Given the description of an element on the screen output the (x, y) to click on. 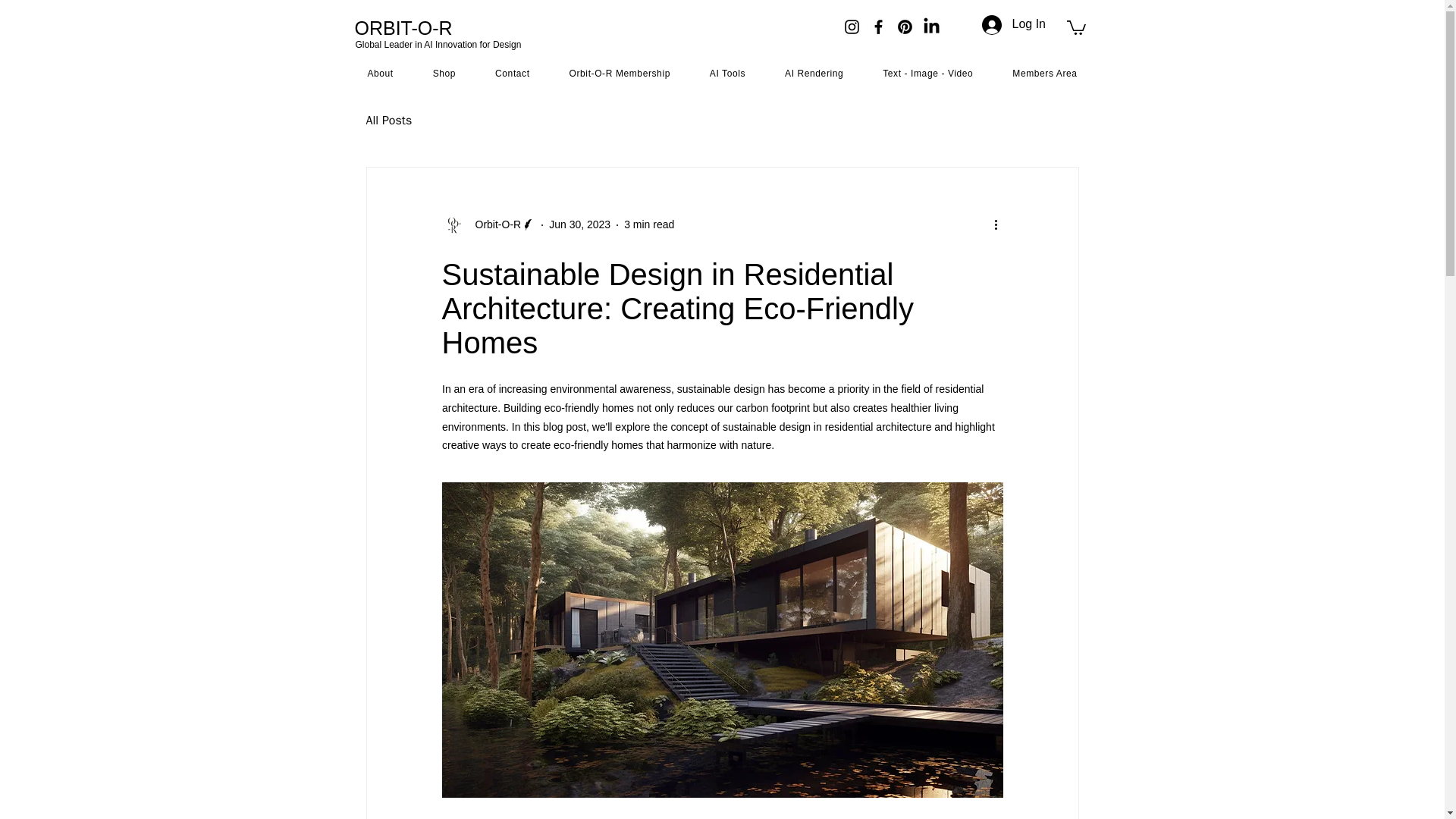
Contact (512, 73)
All Posts (388, 120)
Orbit-O-R Membership (620, 73)
AI Tools (727, 73)
AI Rendering (814, 73)
Log In (1008, 24)
Orbit-O-R (488, 224)
Orbit-O-R (493, 224)
Shop (443, 73)
3 min read (649, 224)
